Given the description of an element on the screen output the (x, y) to click on. 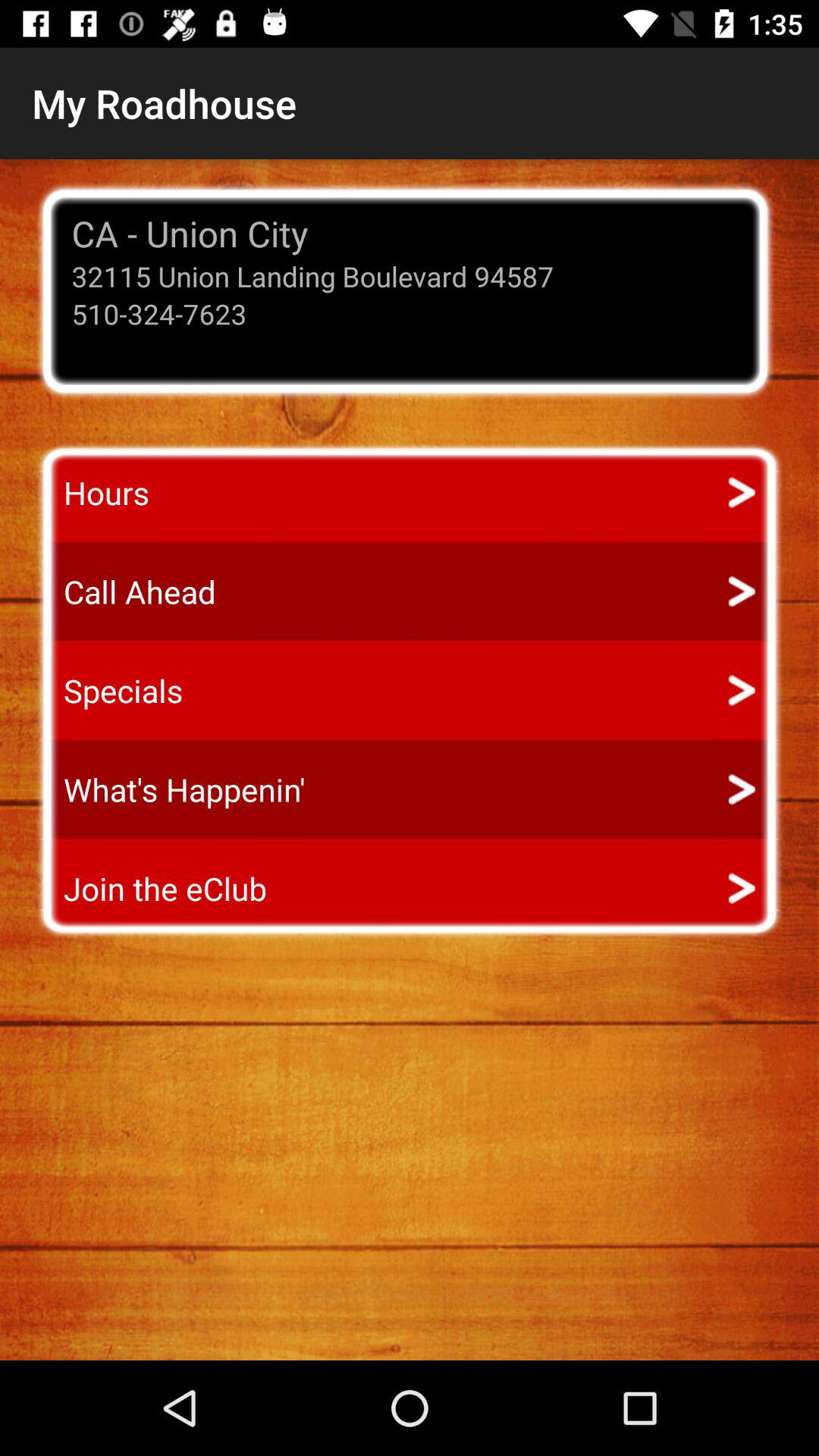
tap the icon above what's happenin' app (109, 690)
